Given the description of an element on the screen output the (x, y) to click on. 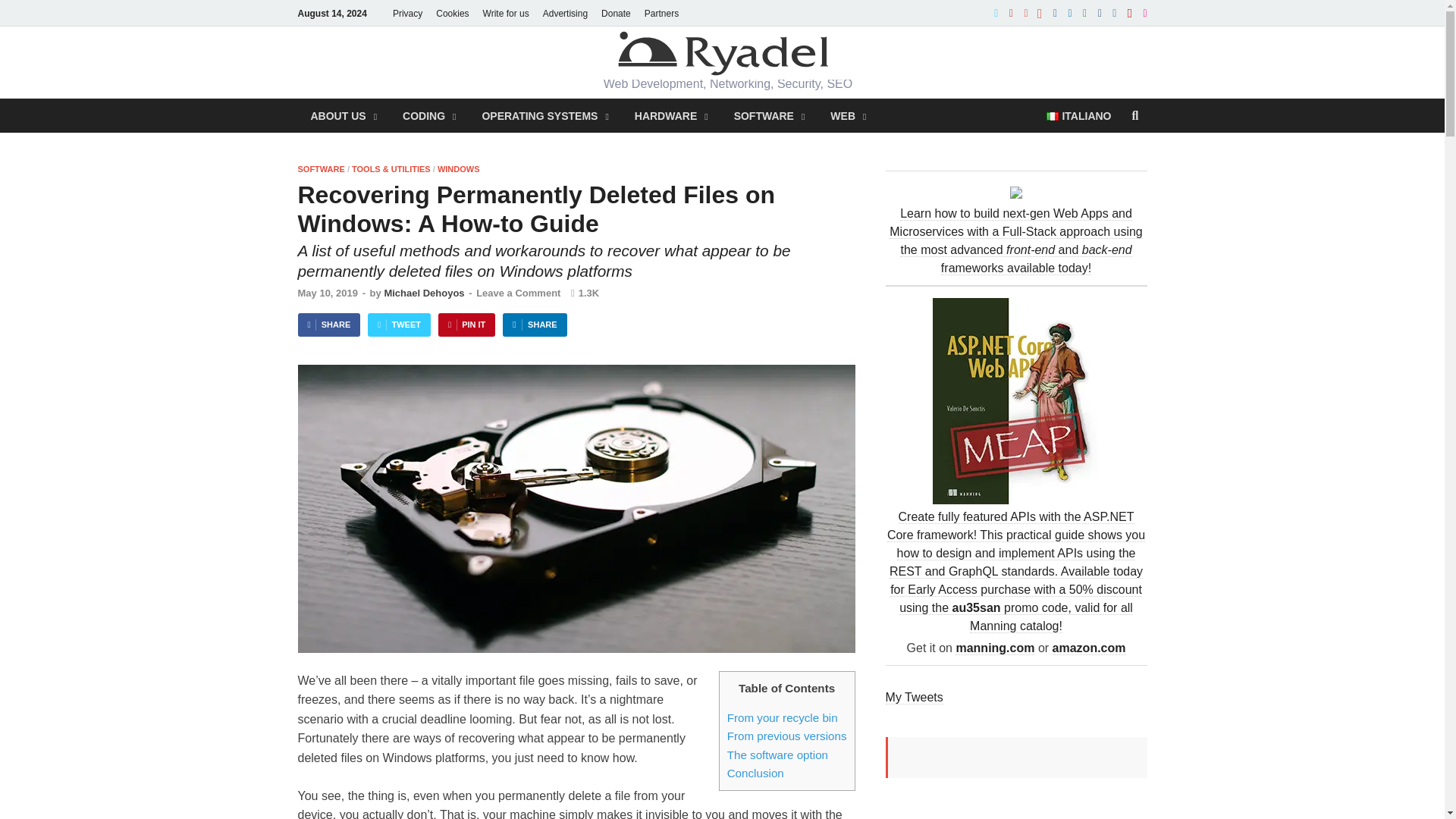
Donate (615, 13)
ABOUT US (343, 115)
Partners (661, 13)
Advertising (564, 13)
Pinterest (1129, 11)
Cookies (452, 13)
Write for us (505, 13)
Privacy (407, 13)
